Given the description of an element on the screen output the (x, y) to click on. 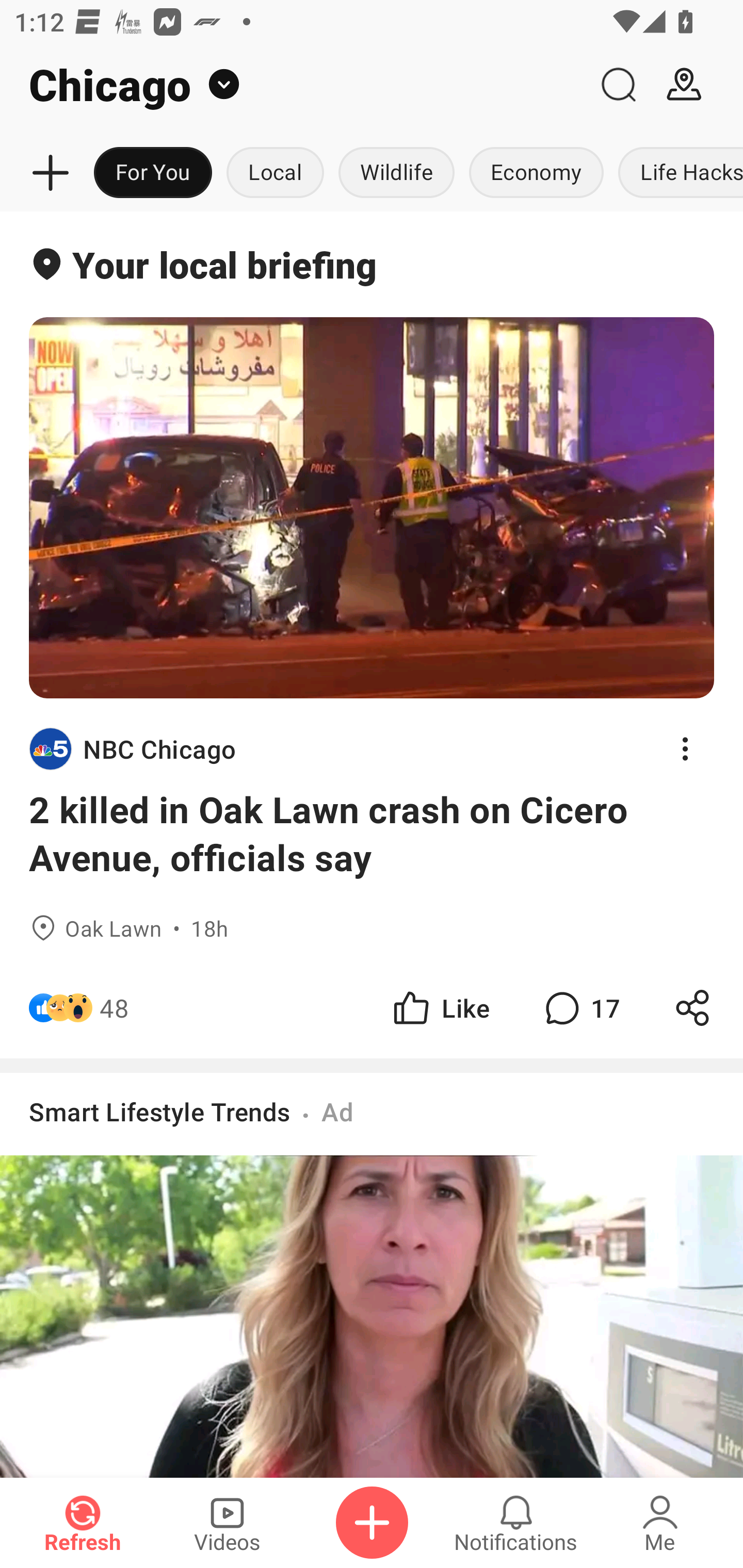
Chicago (292, 84)
For You (152, 172)
Local (275, 172)
Wildlife (396, 172)
Economy (536, 172)
Life Hacks (676, 172)
48 (114, 1007)
Like (439, 1007)
17 (579, 1007)
Smart Lifestyle Trends (159, 1111)
Videos (227, 1522)
Notifications (516, 1522)
Me (659, 1522)
